Given the description of an element on the screen output the (x, y) to click on. 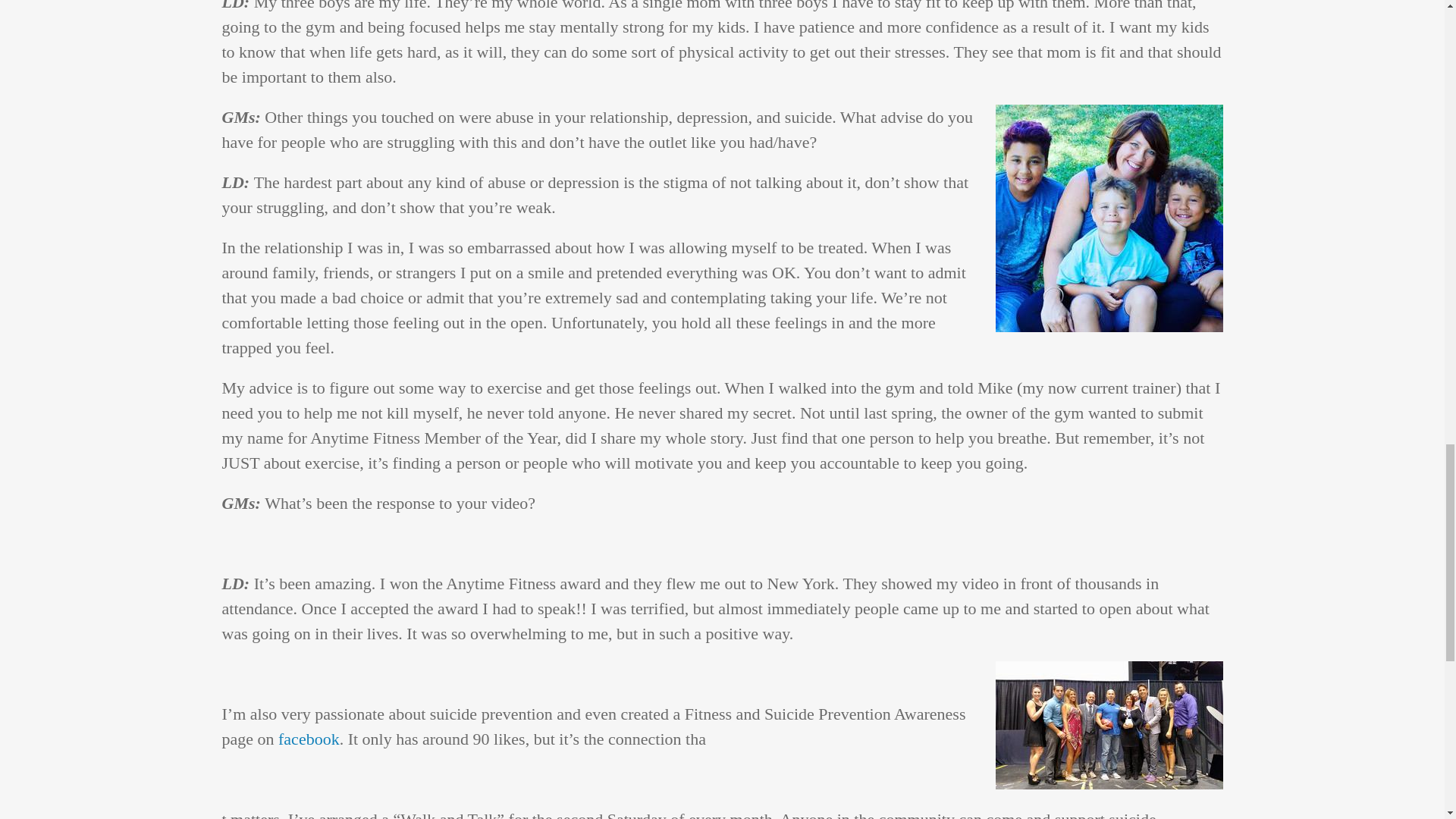
 facebook (307, 738)
